Given the description of an element on the screen output the (x, y) to click on. 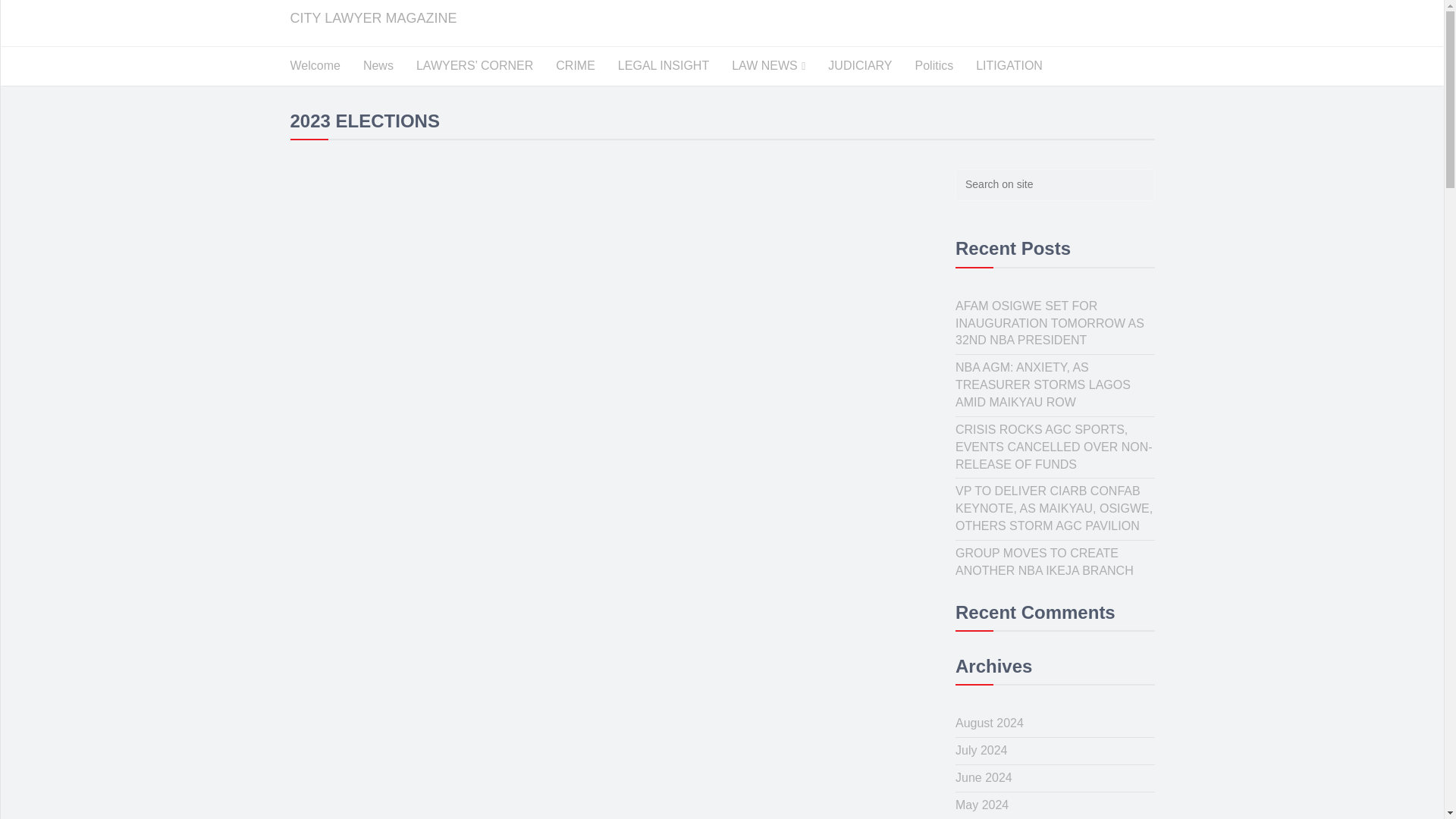
News (378, 65)
LAW NEWS (768, 65)
NBA AGM: ANXIETY, AS TREASURER STORMS LAGOS AMID MAIKYAU ROW (1043, 384)
CRIME (575, 65)
LITIGATION (1008, 65)
JUDICIARY (859, 65)
August 2024 (989, 722)
LEGAL INSIGHT (663, 65)
